Given the description of an element on the screen output the (x, y) to click on. 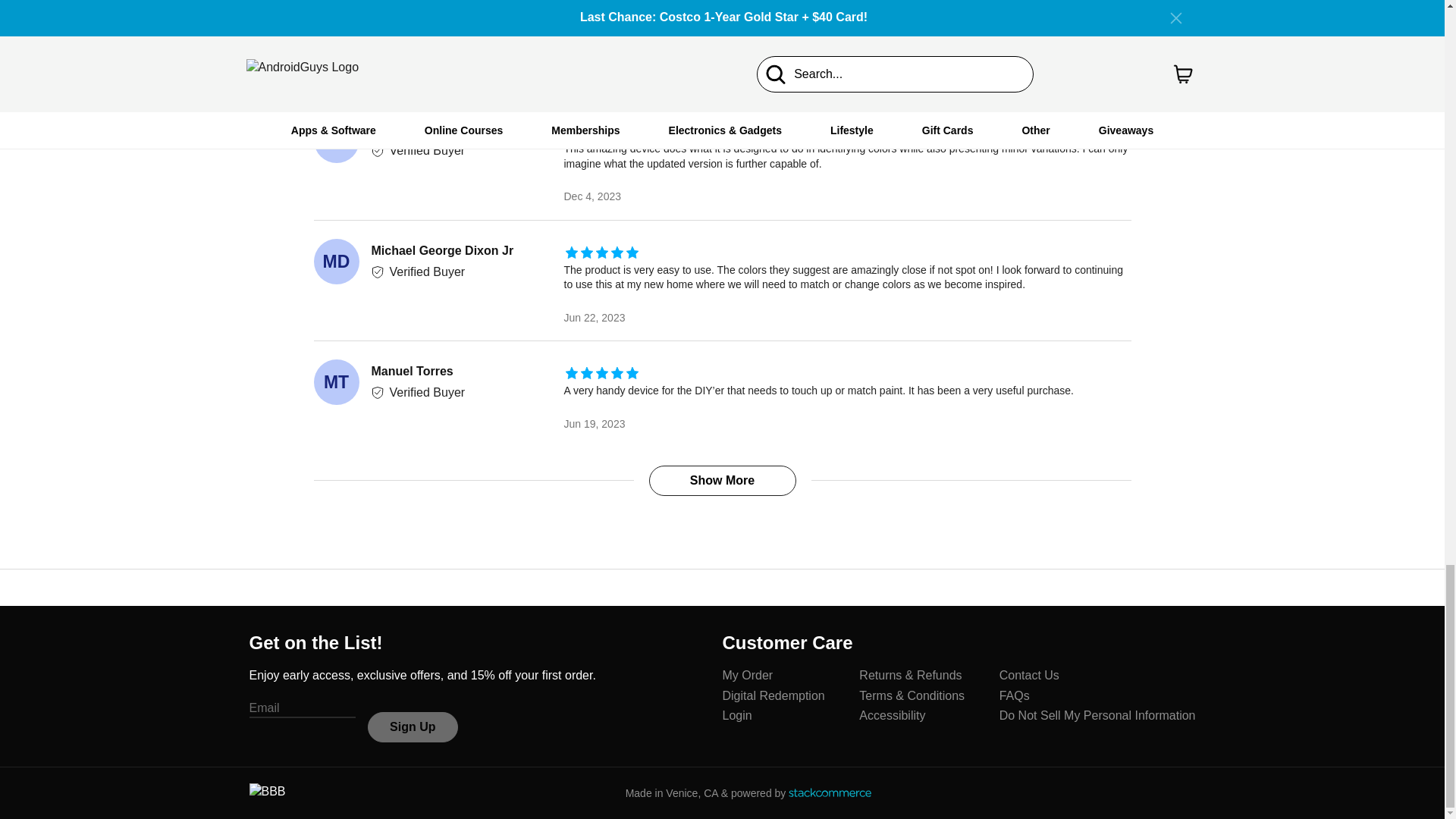
StackCommerce (829, 792)
